Given the description of an element on the screen output the (x, y) to click on. 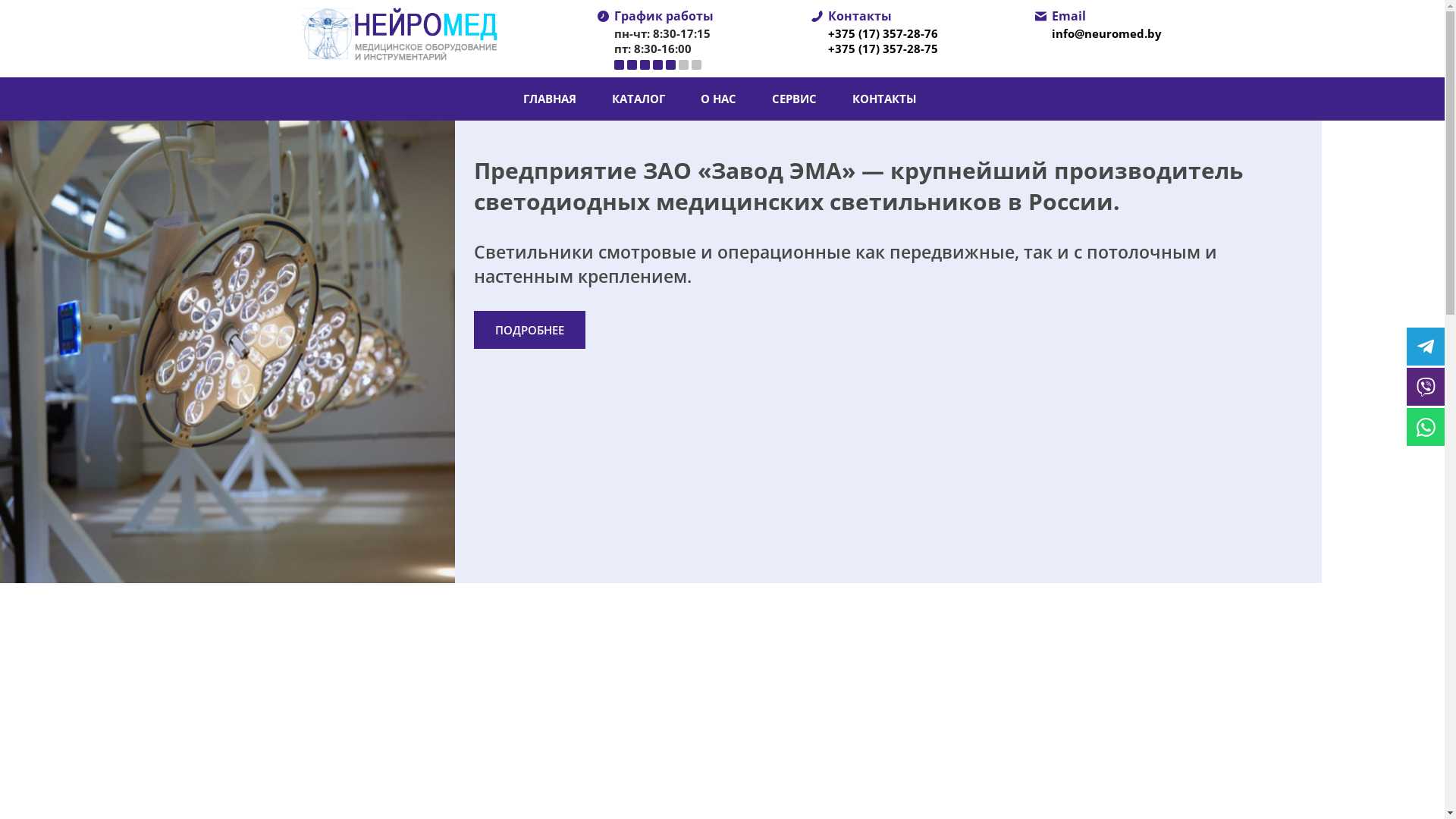
info@neuromed.by Element type: text (1106, 32)
+375 (17) 357-28-75 Element type: text (883, 48)
+375 (17) 357-28-76 Element type: text (883, 32)
